Given the description of an element on the screen output the (x, y) to click on. 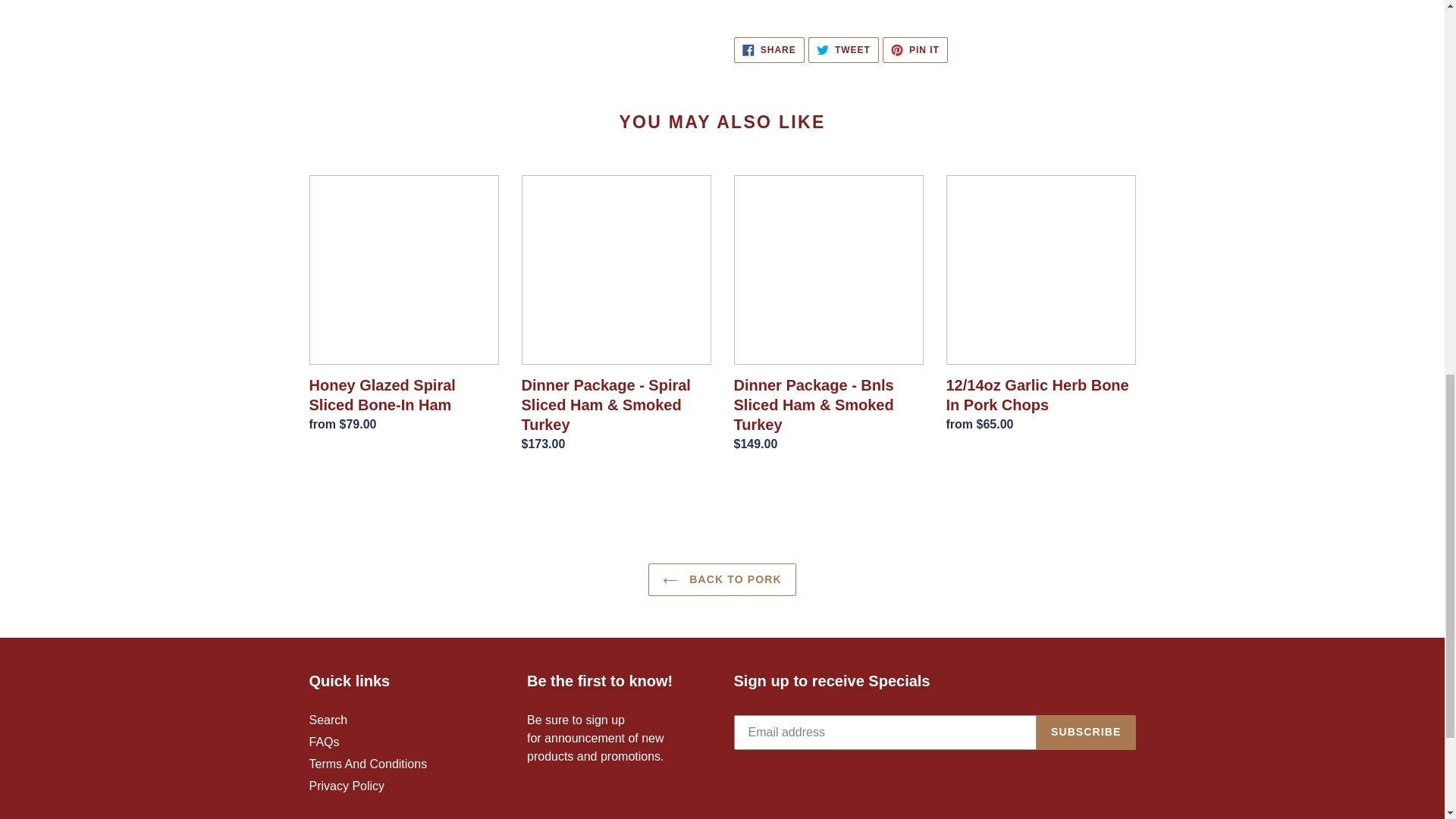
Search (327, 719)
BACK TO PORK (720, 579)
